Given the description of an element on the screen output the (x, y) to click on. 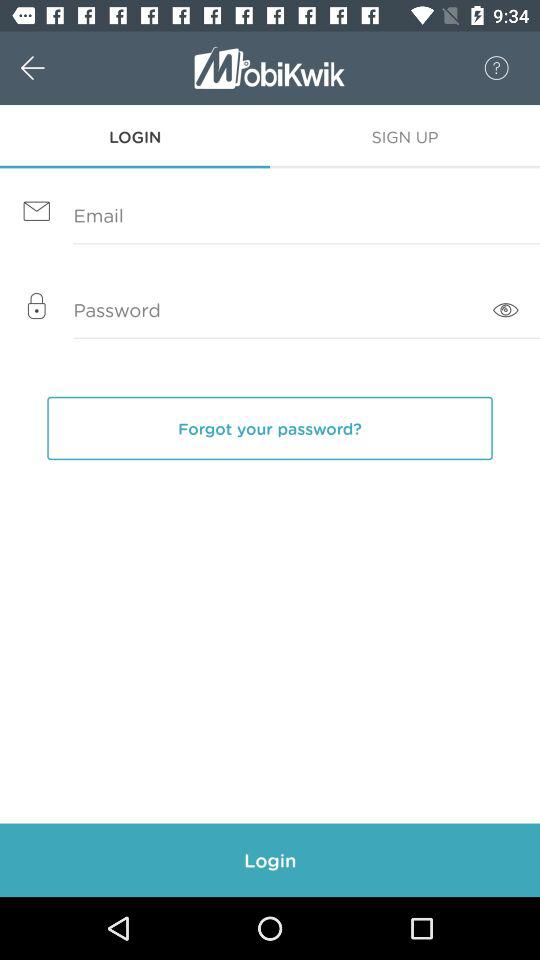
turn on the icon above the sign up icon (485, 68)
